Given the description of an element on the screen output the (x, y) to click on. 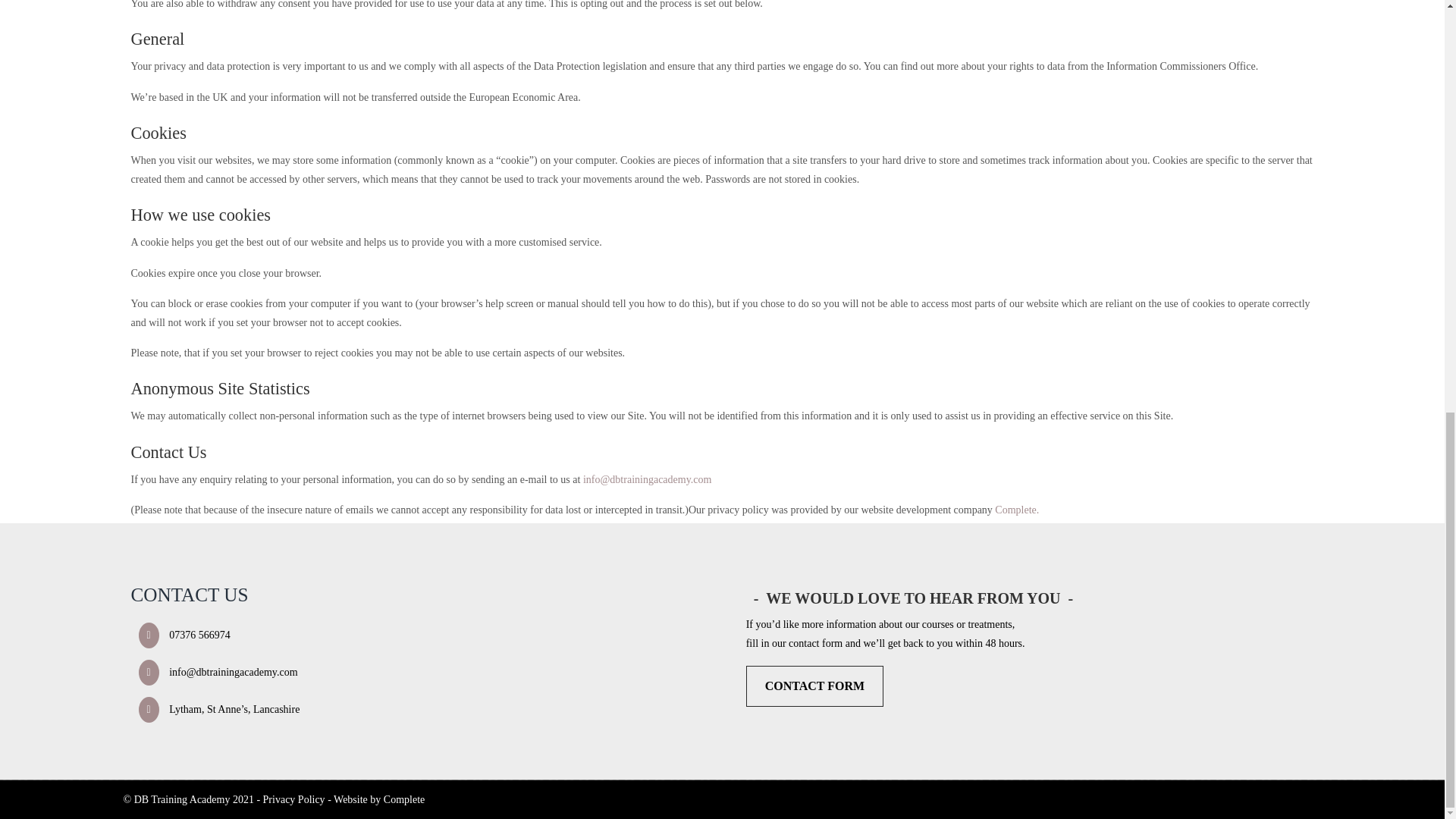
Complete. (1016, 509)
CONTACT FORM (814, 685)
Contact Us (814, 685)
07376 566974 (180, 634)
Website by Complete (379, 799)
Privacy Policy (293, 799)
